Given the description of an element on the screen output the (x, y) to click on. 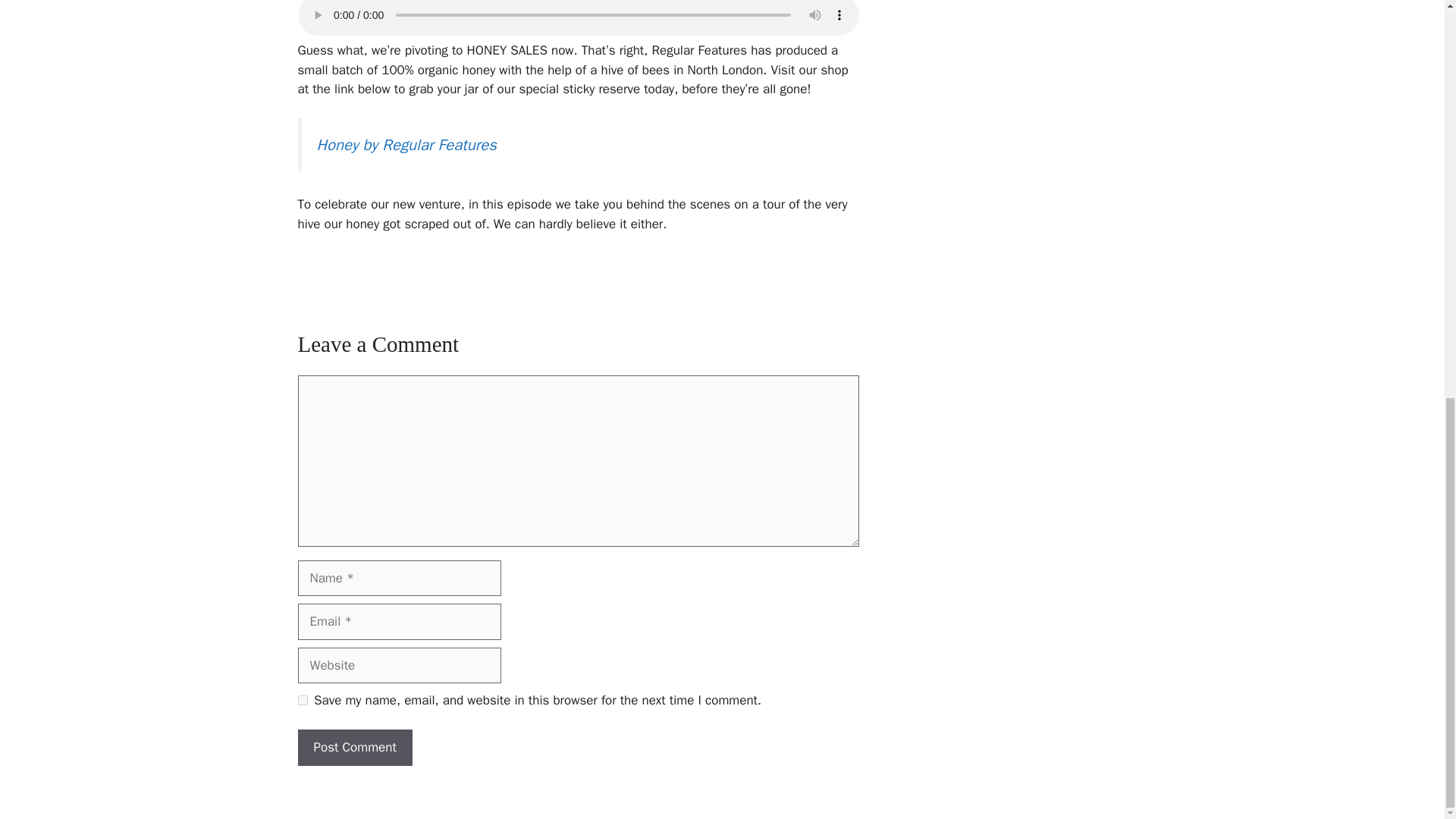
Post Comment (354, 747)
Post Comment (354, 747)
Honey by Regular Features (406, 144)
yes (302, 700)
